Given the description of an element on the screen output the (x, y) to click on. 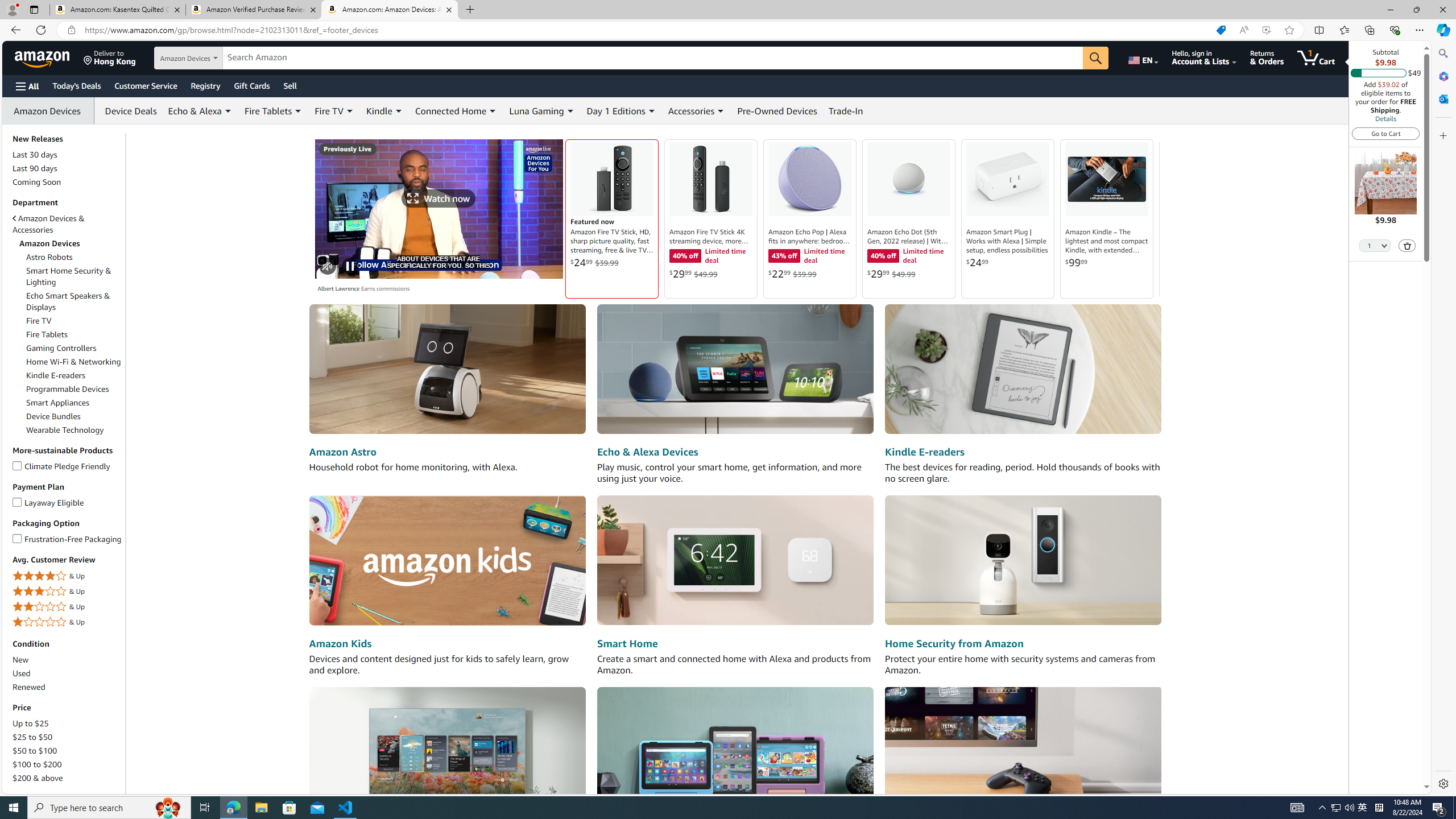
Expand Connected Home (492, 111)
Amazon Verified Purchase Reviews - Amazon Customer Service (253, 9)
4 Stars & Up (67, 576)
Climate Pledge Friendly Climate Pledge Friendly (61, 465)
Connected Home (456, 110)
Returns & Orders (1266, 57)
Layaway Eligible Layaway Eligible (48, 502)
1 Star & Up (67, 621)
Climate Pledge Friendly (17, 463)
